Given the description of an element on the screen output the (x, y) to click on. 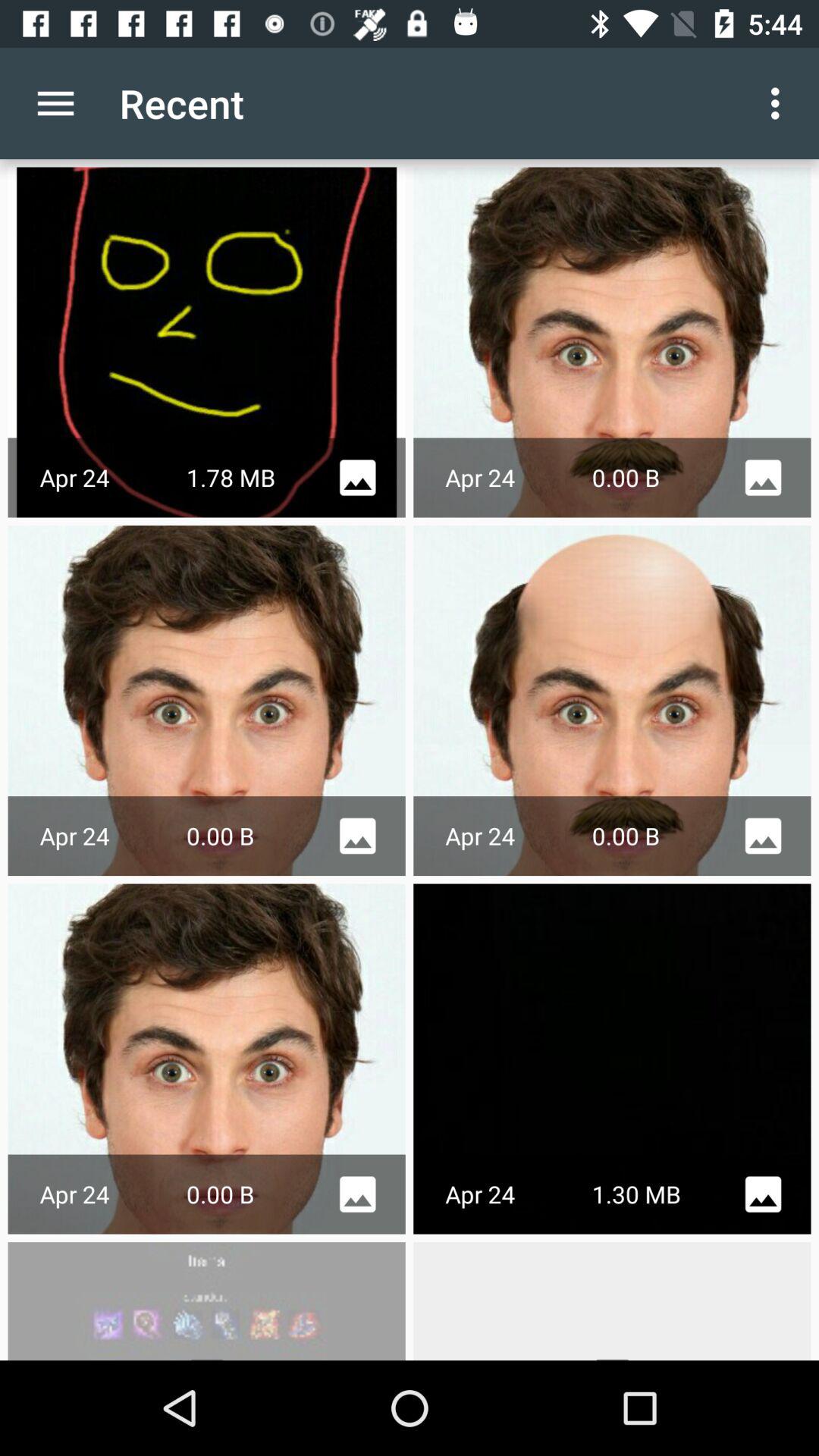
launch the item next to the recent (55, 103)
